Given the description of an element on the screen output the (x, y) to click on. 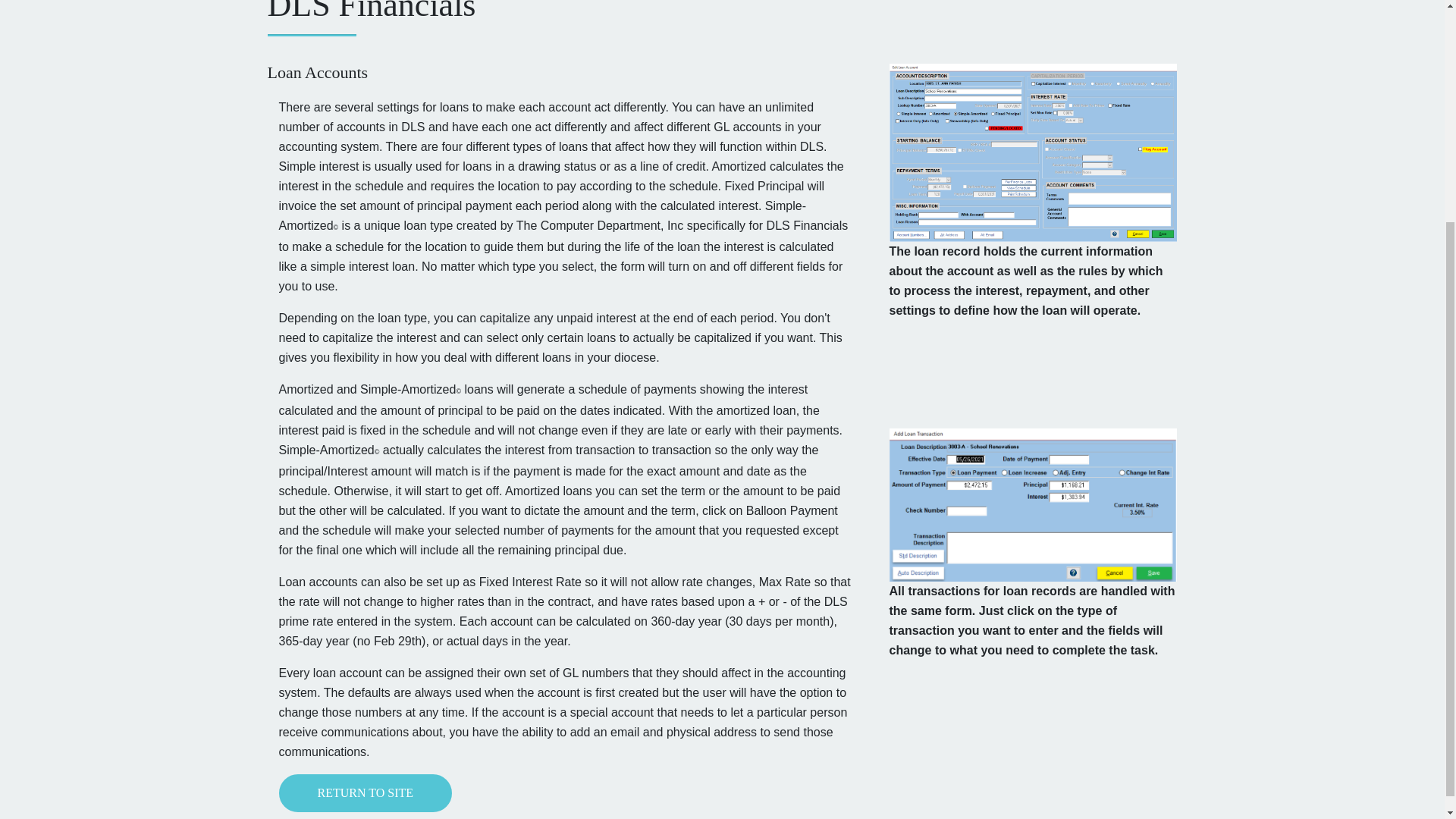
RETURN TO SITE (365, 792)
